Given the description of an element on the screen output the (x, y) to click on. 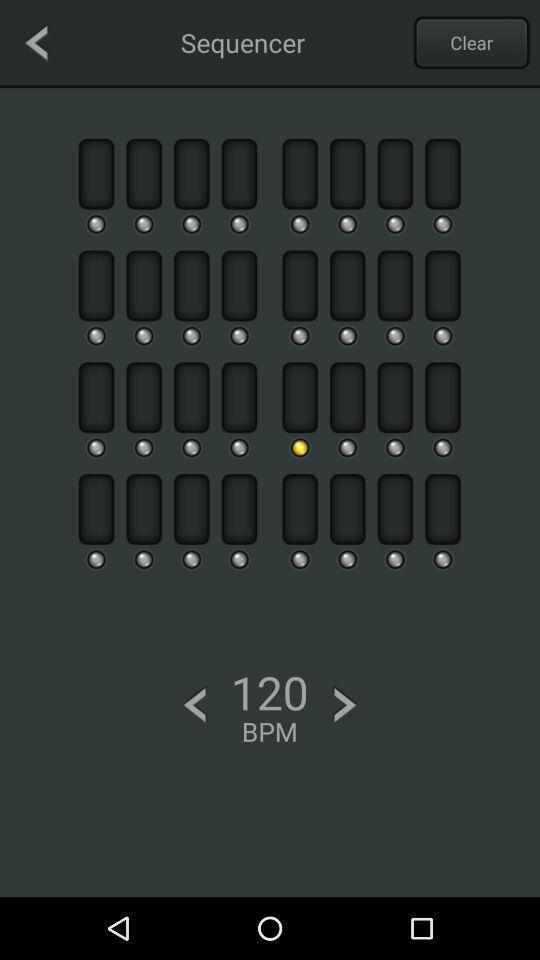
increase (345, 704)
